Given the description of an element on the screen output the (x, y) to click on. 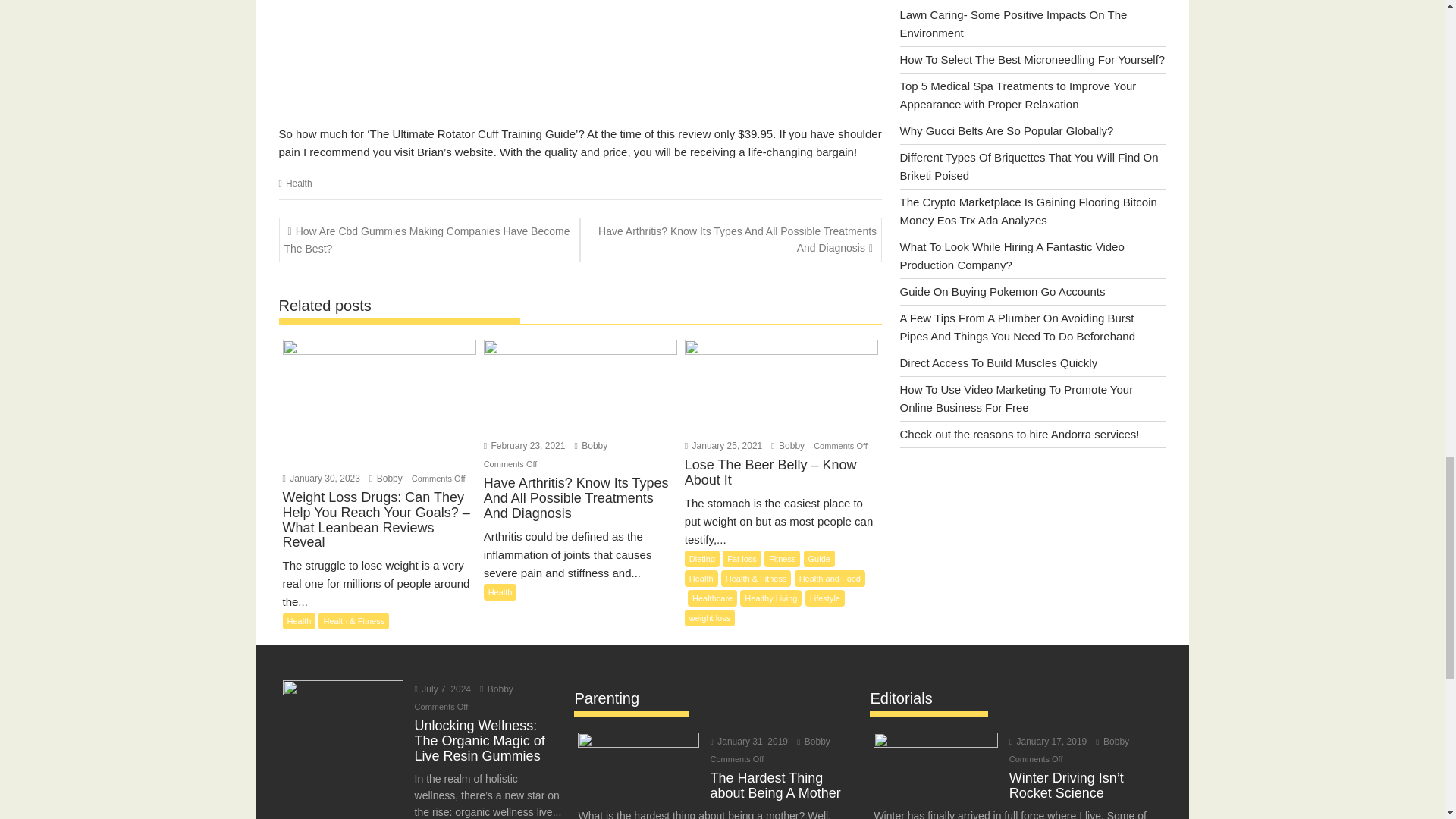
Bobby (591, 445)
How Are Cbd Gummies Making Companies Have Become The Best? (429, 239)
February 23, 2021 (524, 445)
Health (499, 591)
Health (299, 183)
Bobby (386, 478)
Bobby (496, 688)
January 25, 2021 (722, 445)
January 30, 2023 (320, 478)
Bobby (788, 445)
Health (298, 620)
Bobby (386, 478)
Bobby (812, 741)
